Given the description of an element on the screen output the (x, y) to click on. 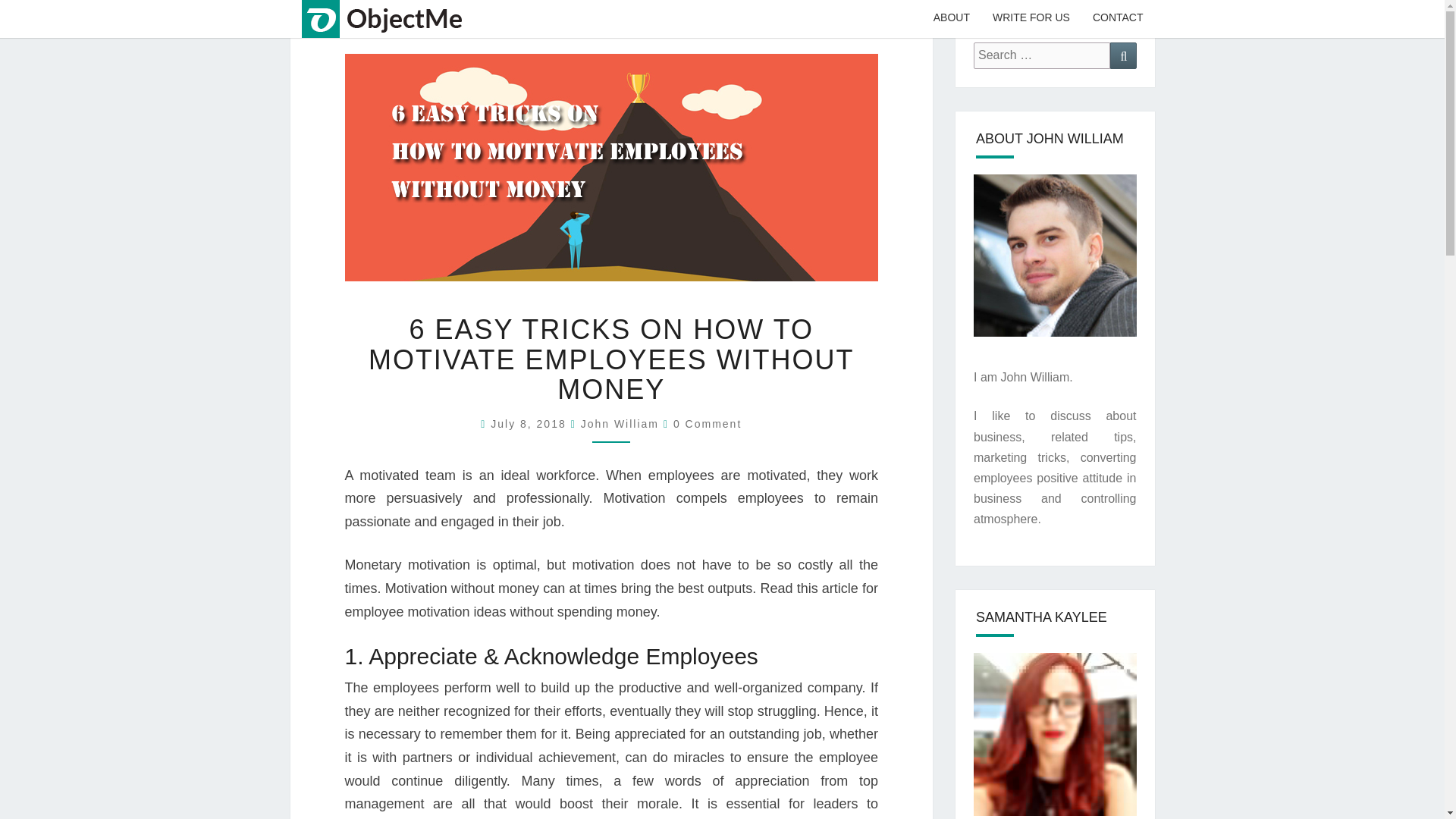
0 Comment (706, 423)
View all posts by John William (619, 423)
CONTACT (1117, 18)
July 8, 2018 (530, 423)
Search for: (1041, 55)
John William (619, 423)
WRITE FOR US (1031, 18)
11:04 am (530, 423)
Search (1123, 55)
ABOUT (951, 18)
